Given the description of an element on the screen output the (x, y) to click on. 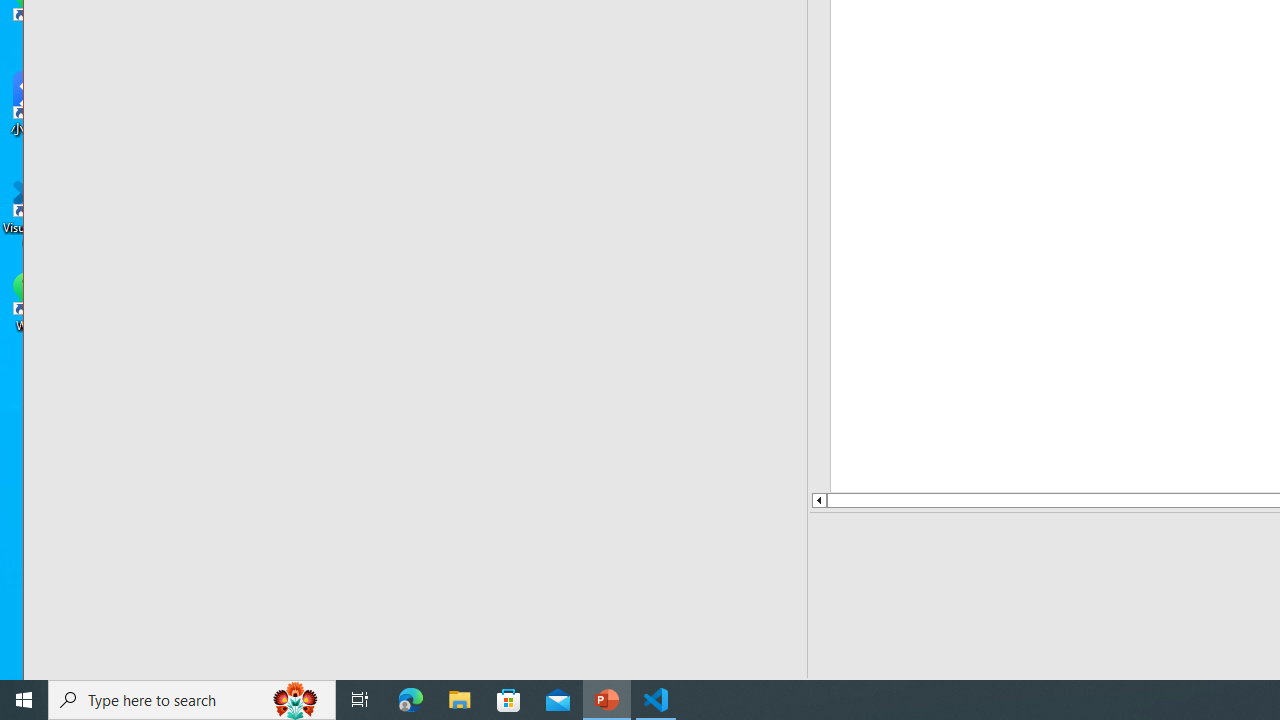
Line up (818, 500)
